Given the description of an element on the screen output the (x, y) to click on. 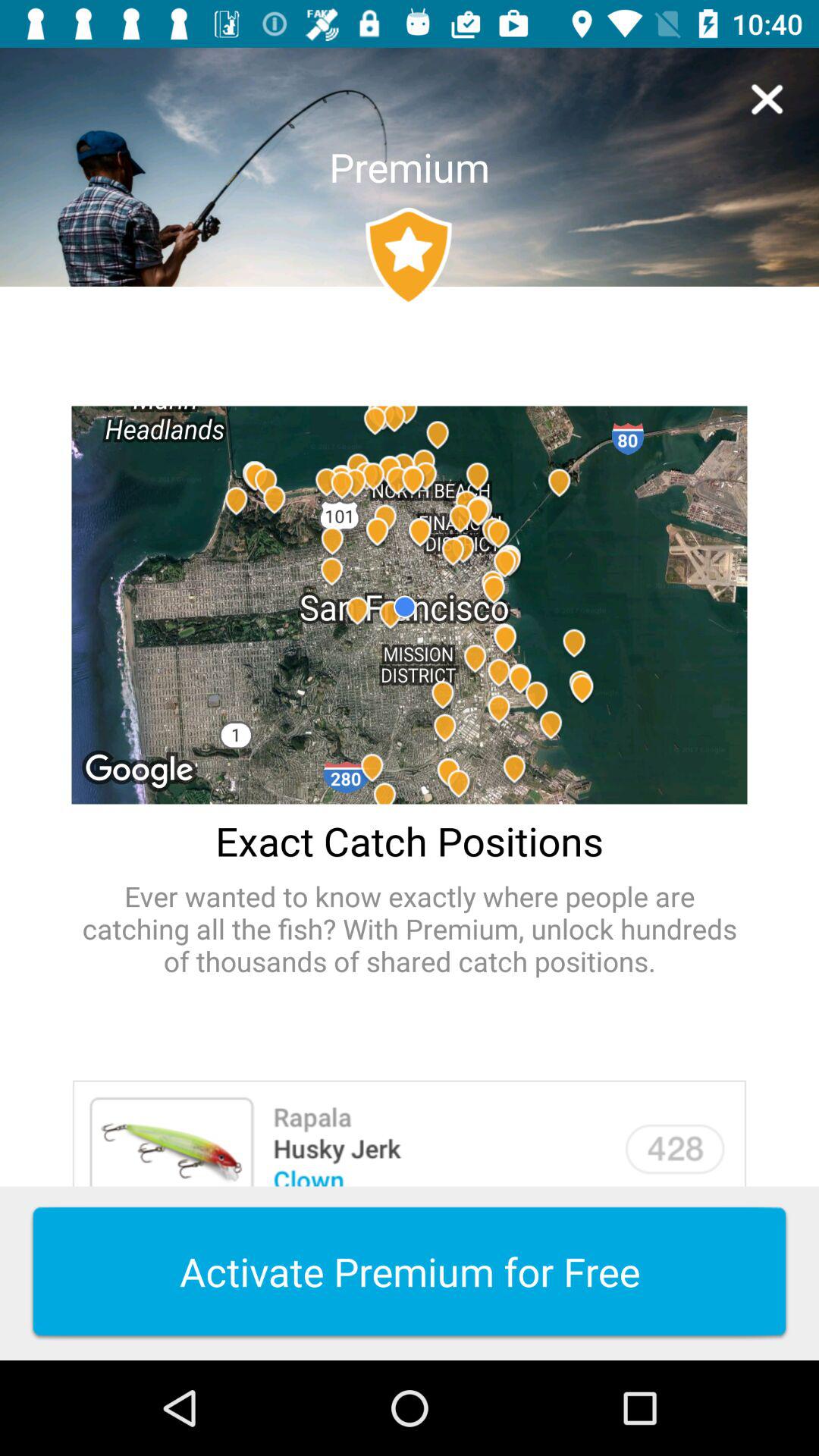
close current screen (767, 99)
